Given the description of an element on the screen output the (x, y) to click on. 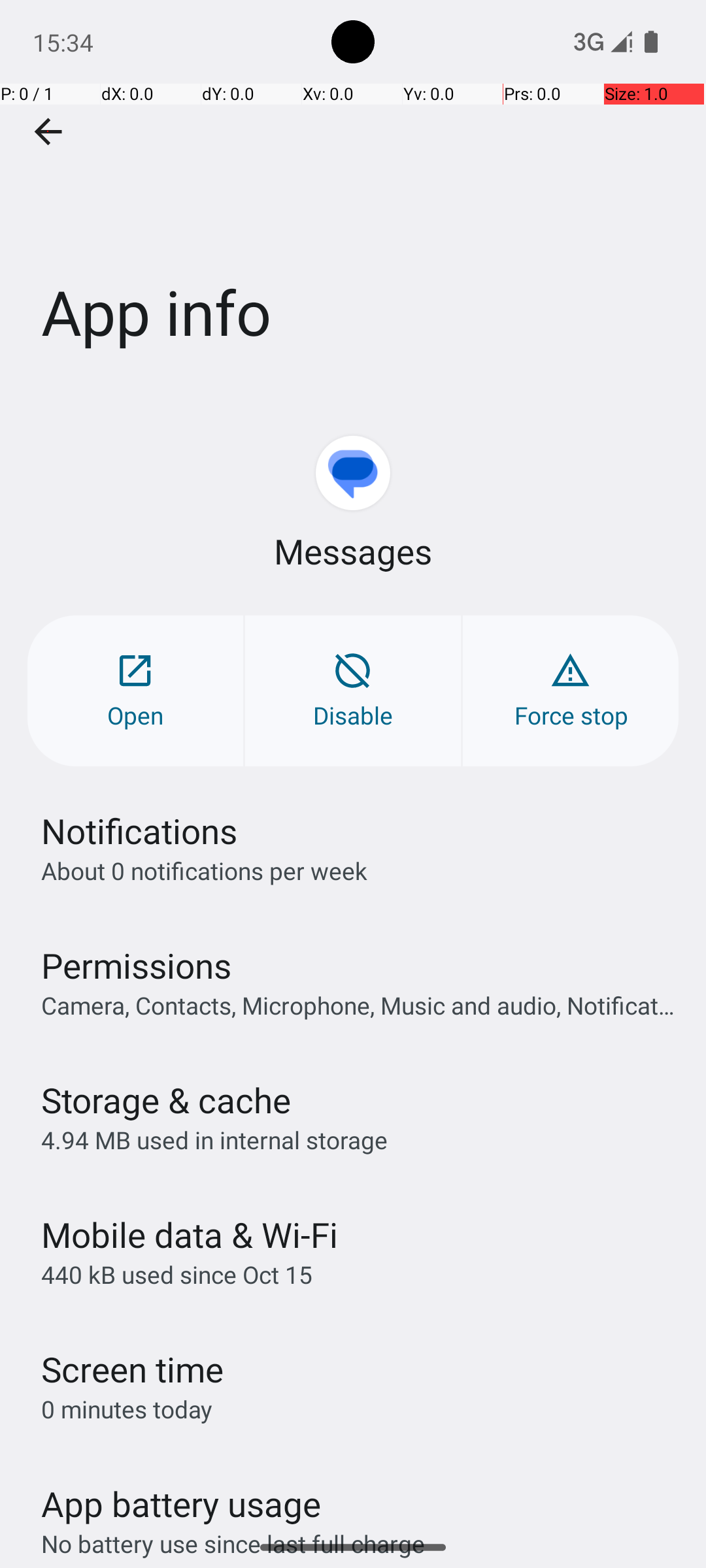
App info Element type: android.widget.FrameLayout (353, 195)
Navigate up Element type: android.widget.ImageButton (48, 131)
Open Element type: android.widget.Button (135, 690)
Disable Element type: android.widget.Button (352, 690)
Force stop Element type: android.widget.Button (570, 690)
Notifications Element type: android.widget.TextView (139, 830)
About 0 notifications per week Element type: android.widget.TextView (204, 870)
Permissions Element type: android.widget.TextView (136, 965)
Camera, Contacts, Microphone, Music and audio, Notifications, Phone, Photos and videos, and SMS Element type: android.widget.TextView (359, 1004)
Storage & cache Element type: android.widget.TextView (166, 1099)
4.94 MB used in internal storage Element type: android.widget.TextView (214, 1139)
Mobile data & Wi‑Fi Element type: android.widget.TextView (189, 1234)
440 kB used since Oct 15 Element type: android.widget.TextView (176, 1273)
Screen time Element type: android.widget.TextView (132, 1368)
0 minutes today Element type: android.widget.TextView (127, 1408)
App battery usage Element type: android.widget.TextView (181, 1503)
